Given the description of an element on the screen output the (x, y) to click on. 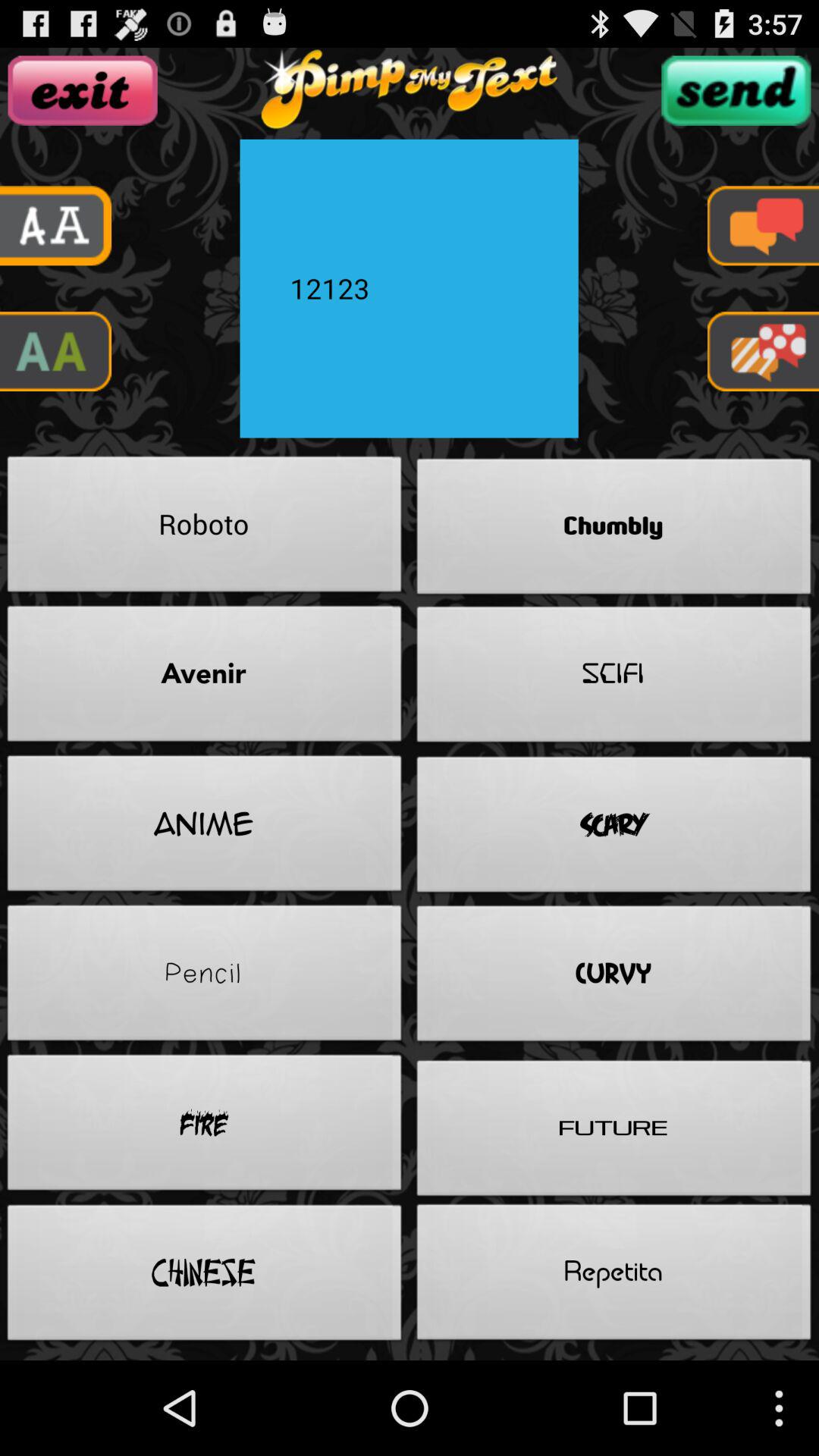
menu pega (763, 351)
